Given the description of an element on the screen output the (x, y) to click on. 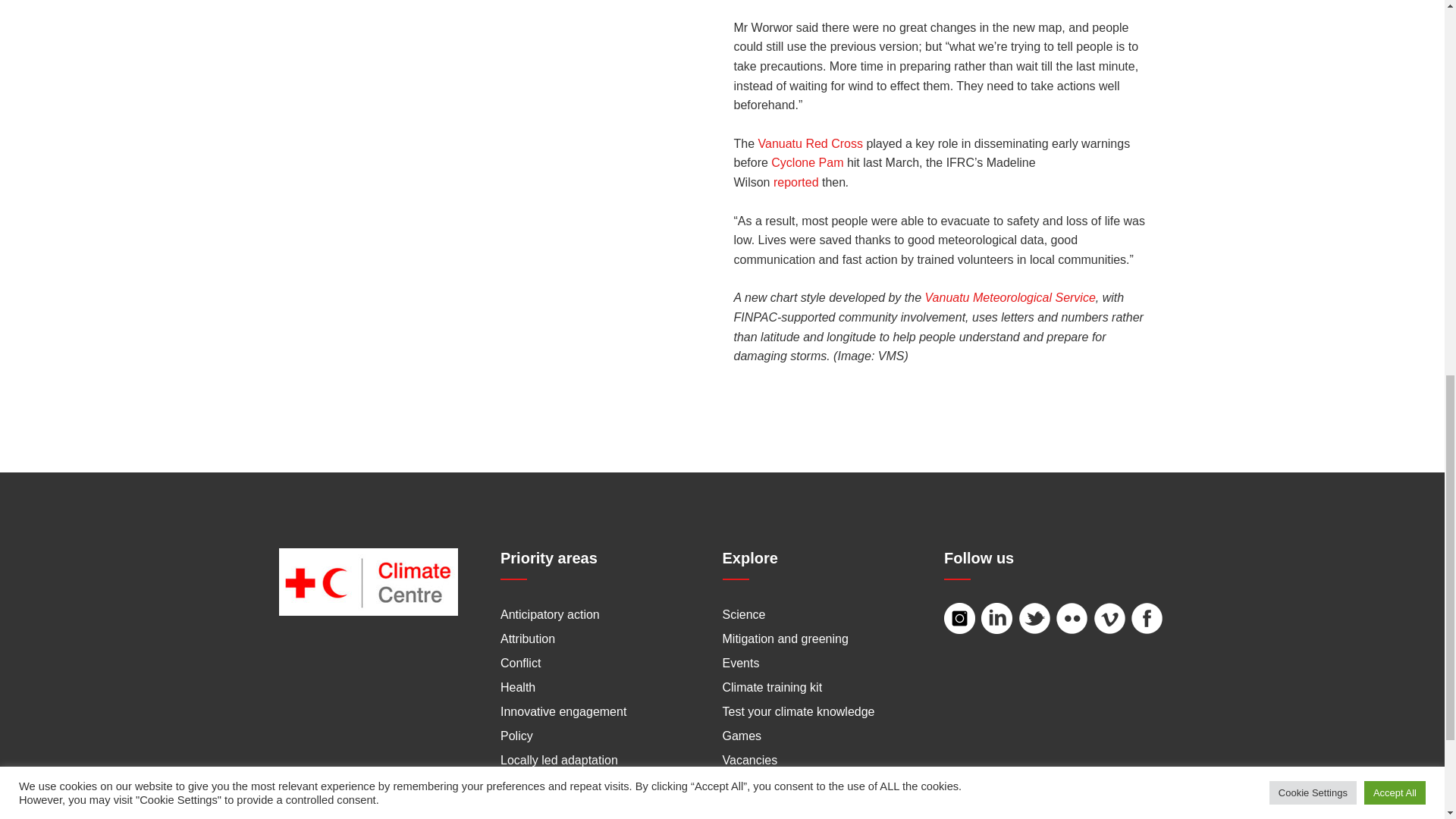
Vanuatu Red Cross (810, 143)
Innovative engagement (563, 711)
Policy (516, 735)
Science (743, 614)
Cyclone Pam (807, 162)
Vanuatu Meteorological Service (1010, 297)
Urban (517, 808)
Social protection (544, 784)
Conflict (520, 662)
Mitigation and greening (784, 638)
Attribution (527, 638)
Locally led adaptation (558, 759)
reported (795, 182)
Anticipatory action (549, 614)
Health (517, 686)
